Given the description of an element on the screen output the (x, y) to click on. 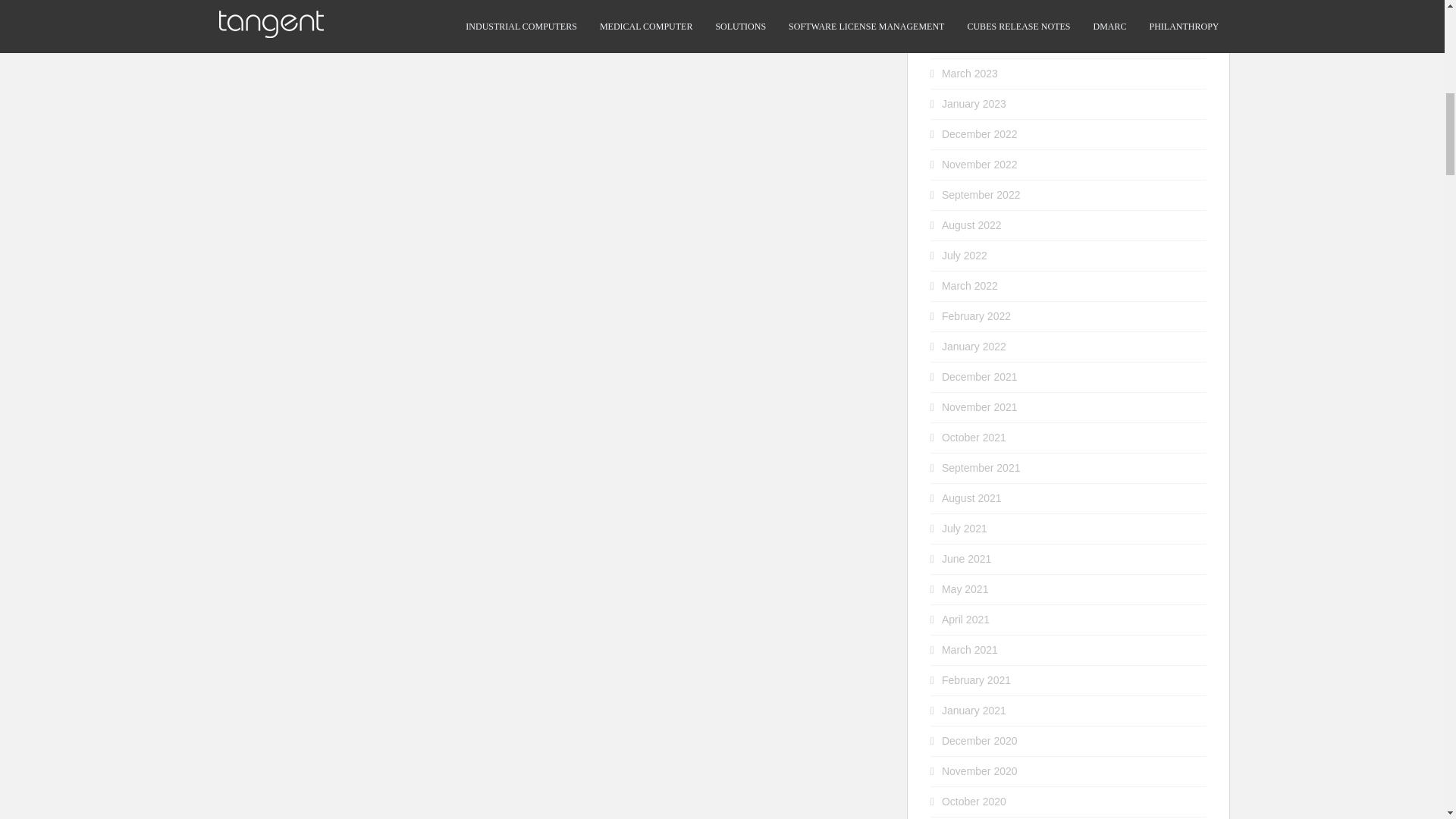
November 2022 (979, 164)
May 2023 (965, 12)
January 2023 (974, 103)
December 2022 (979, 133)
March 2023 (969, 73)
April 2023 (966, 42)
